Given the description of an element on the screen output the (x, y) to click on. 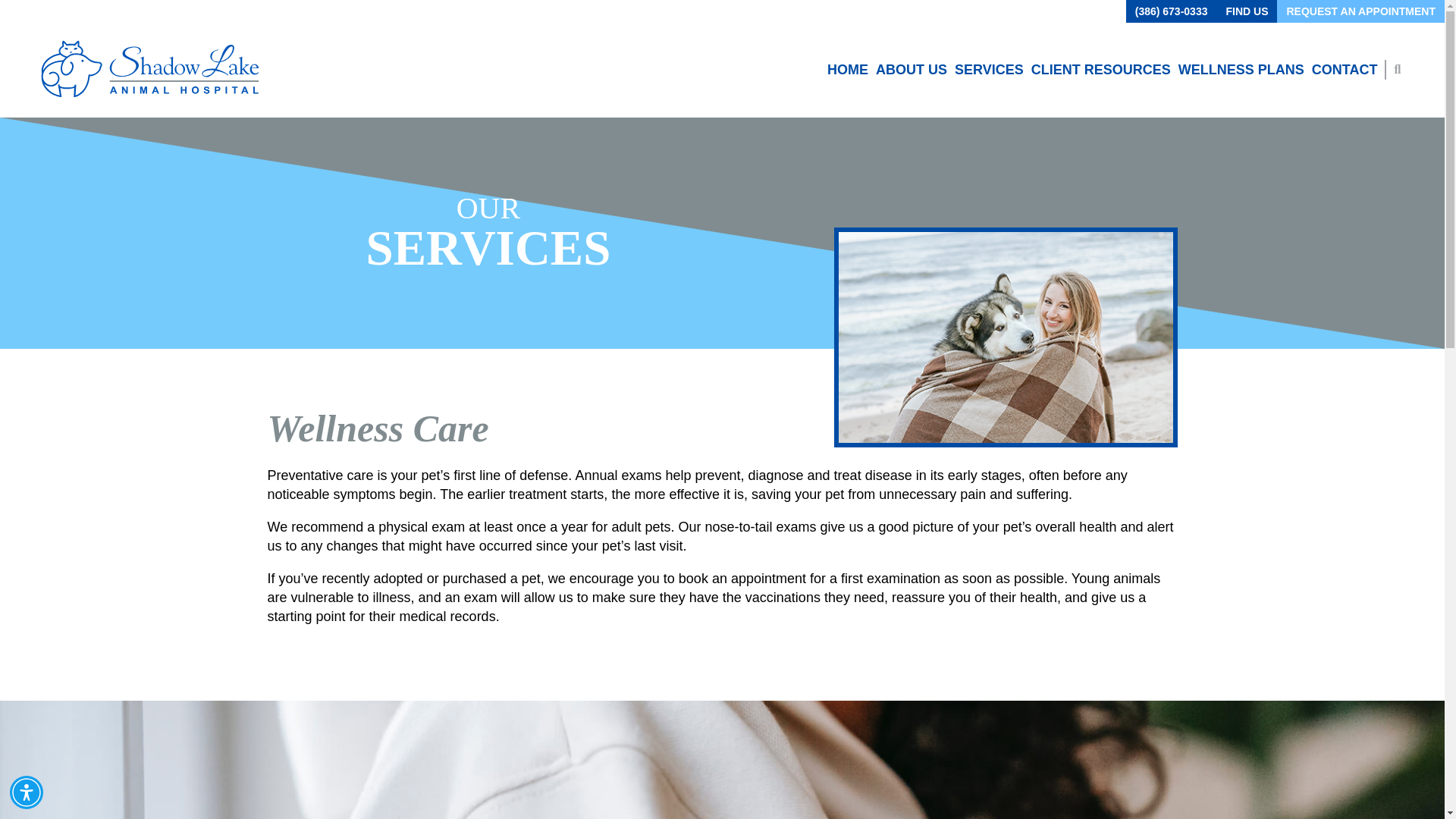
Accessibility Menu (26, 792)
FIND US (1245, 11)
Search (21, 7)
WELLNESS PLANS (1240, 69)
CLIENT RESOURCES (1100, 69)
